Given the description of an element on the screen output the (x, y) to click on. 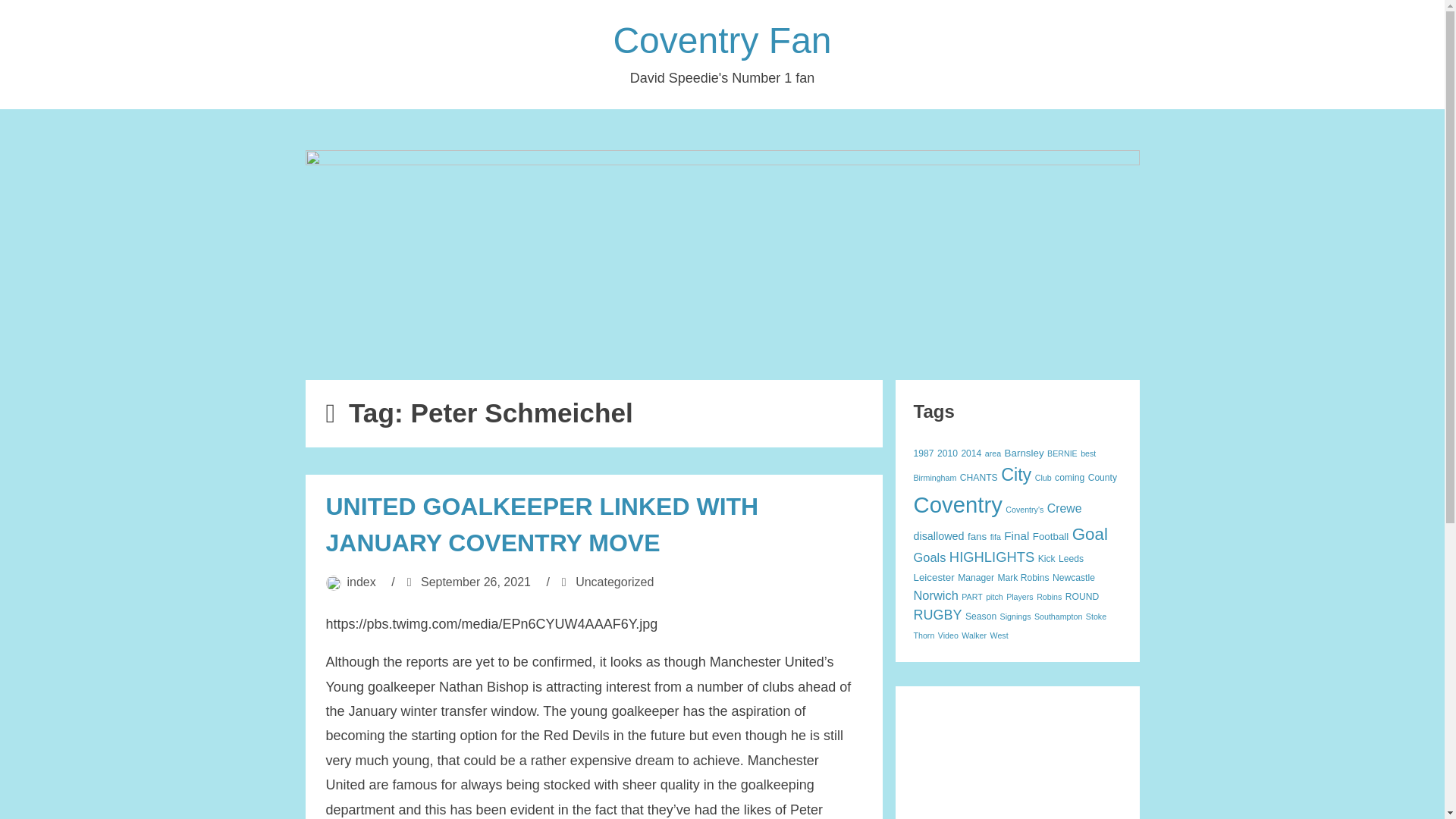
Coventry (956, 504)
Final (1016, 535)
HIGHLIGHTS (991, 556)
Leeds (1070, 558)
Goal (1089, 533)
fifa (995, 536)
area (993, 452)
Barnsley (1023, 452)
1987 (922, 452)
Mark Robins (1022, 577)
